Given the description of an element on the screen output the (x, y) to click on. 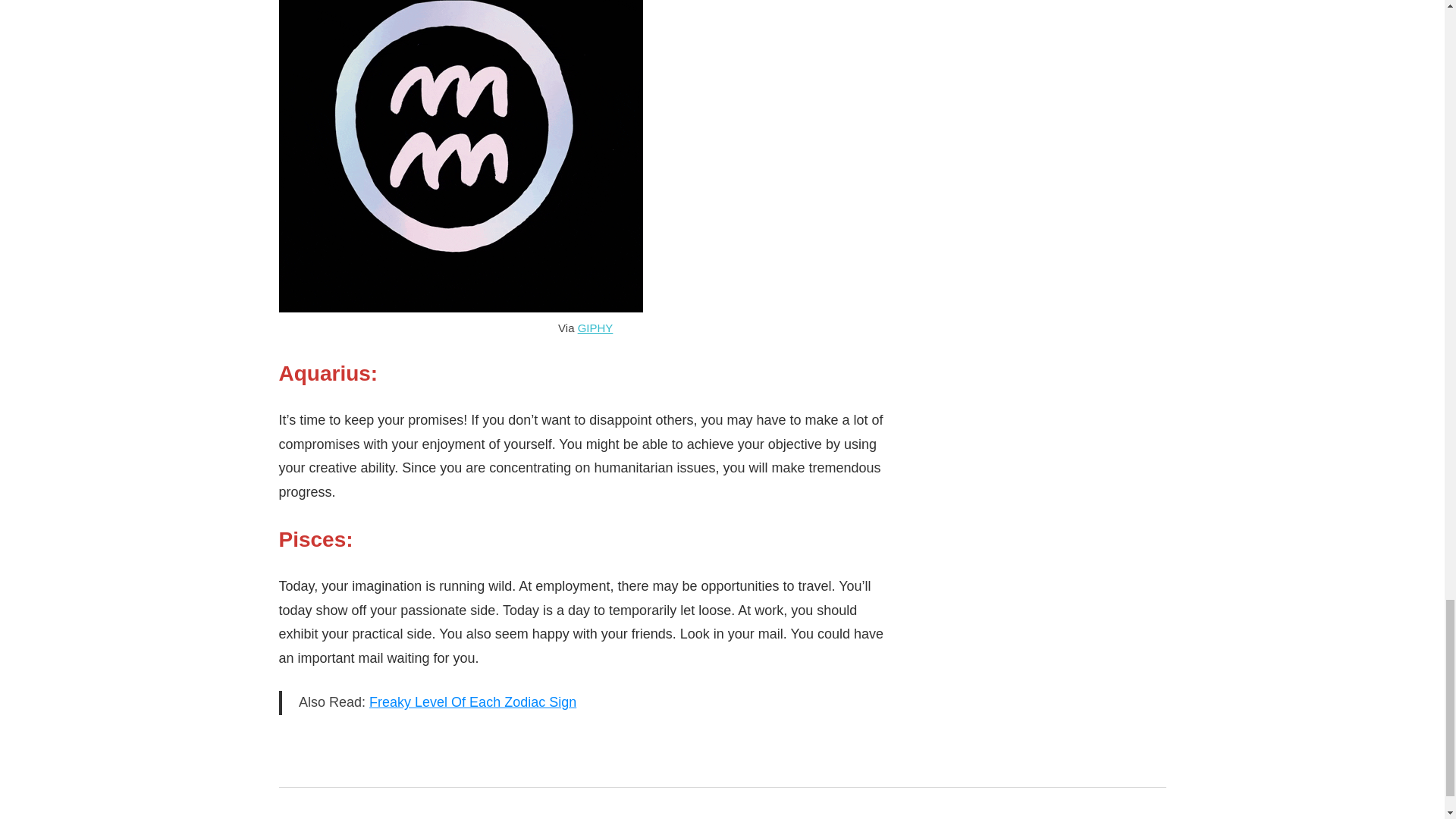
GIPHY (595, 327)
Freaky Level Of Each Zodiac Sign (472, 702)
